Given the description of an element on the screen output the (x, y) to click on. 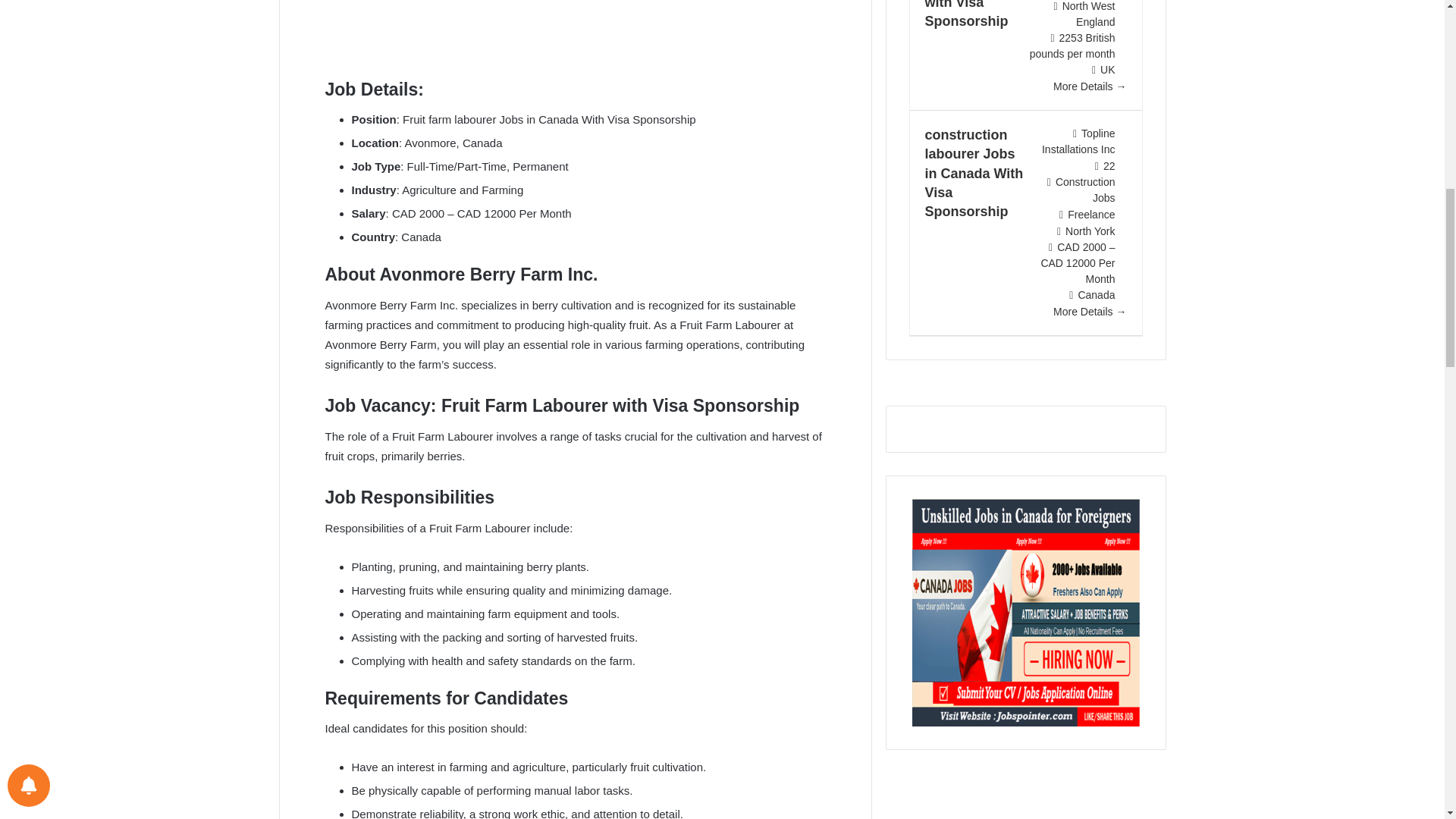
Advertisement (574, 35)
